Given the description of an element on the screen output the (x, y) to click on. 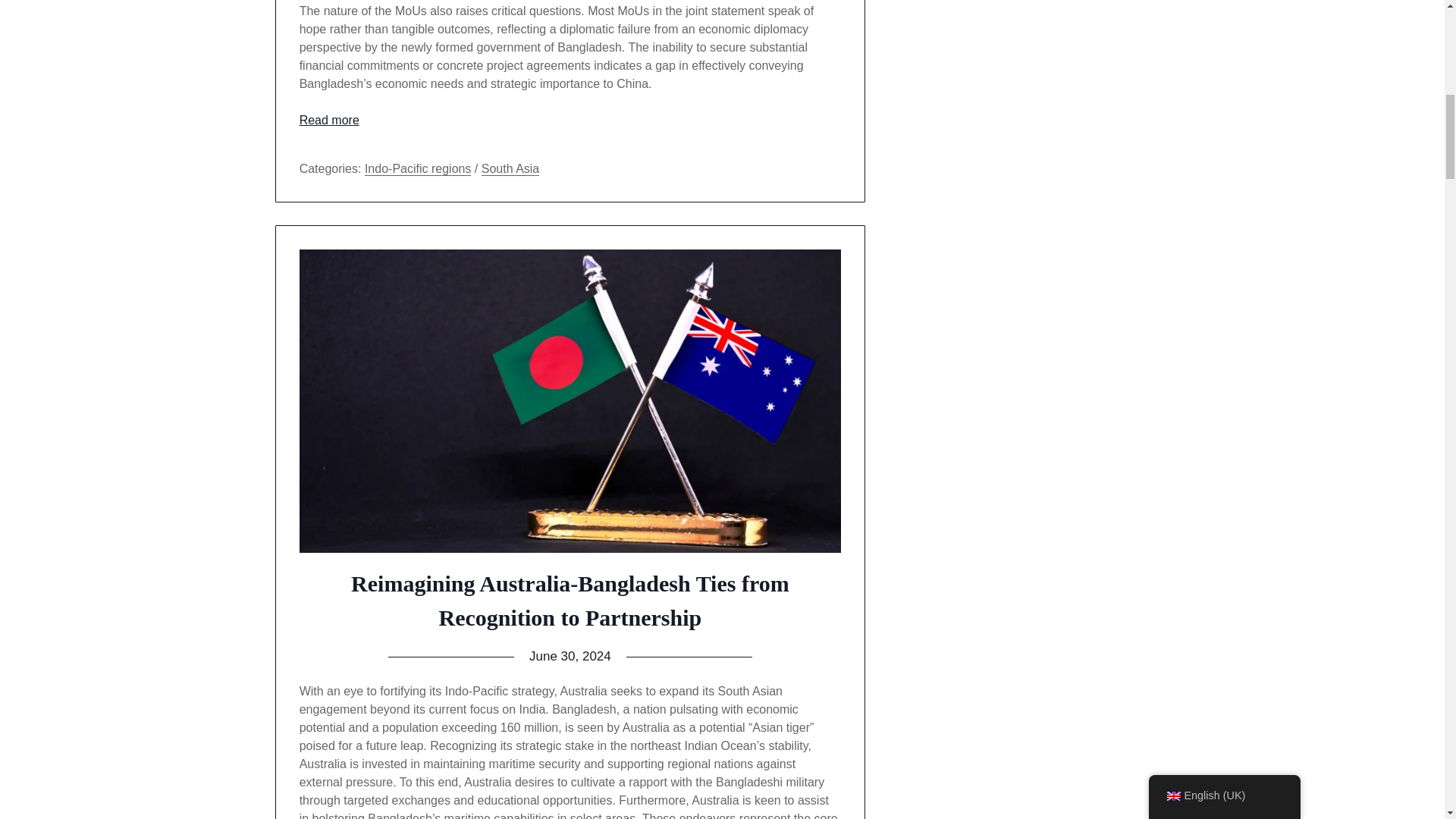
South Asia (510, 169)
June 30, 2024 (570, 656)
Read more (329, 119)
Indo-Pacific regions (418, 169)
